Given the description of an element on the screen output the (x, y) to click on. 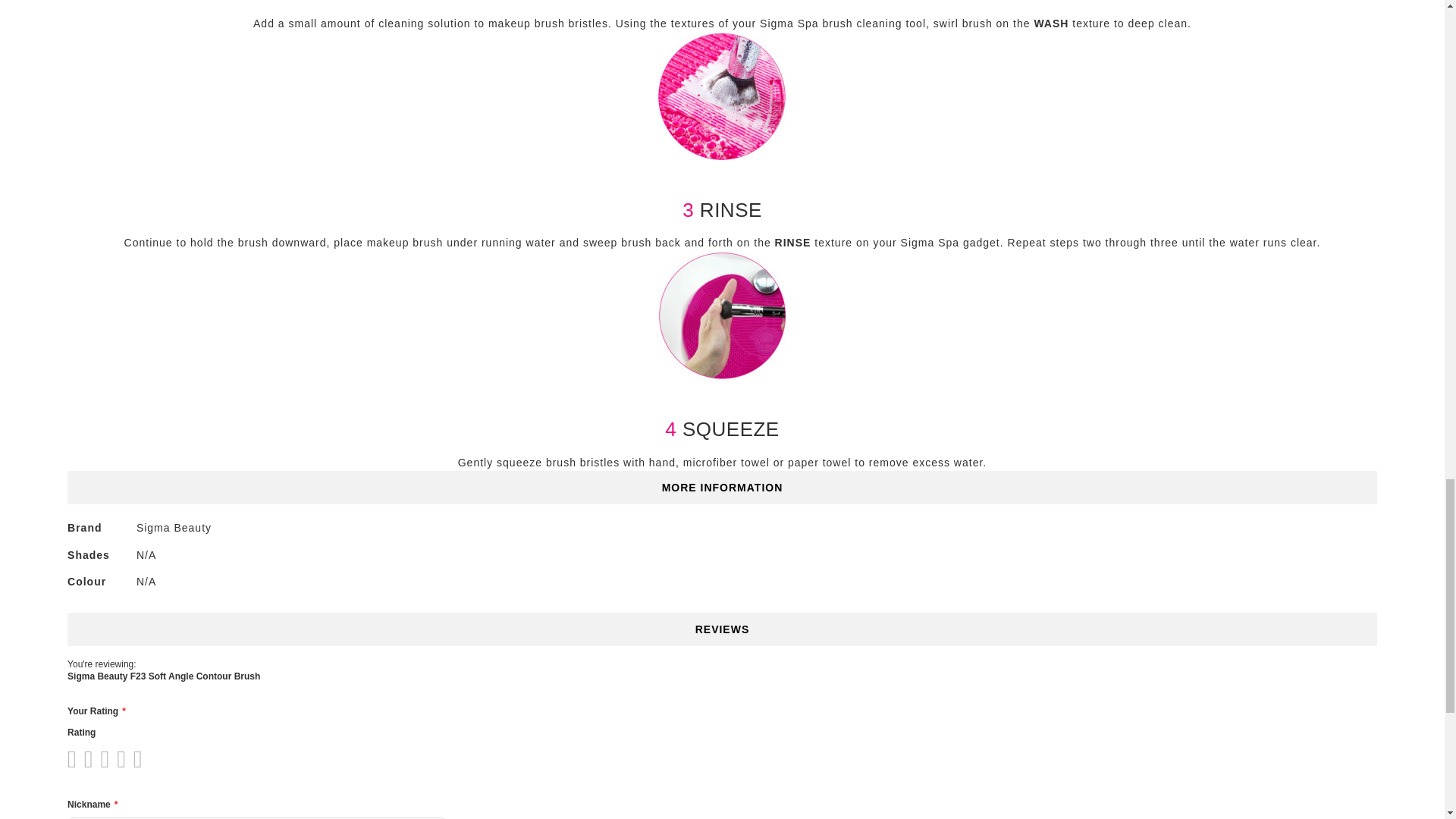
3 stars (91, 758)
2 stars (83, 758)
5 stars (107, 758)
4 stars (99, 758)
